Given the description of an element on the screen output the (x, y) to click on. 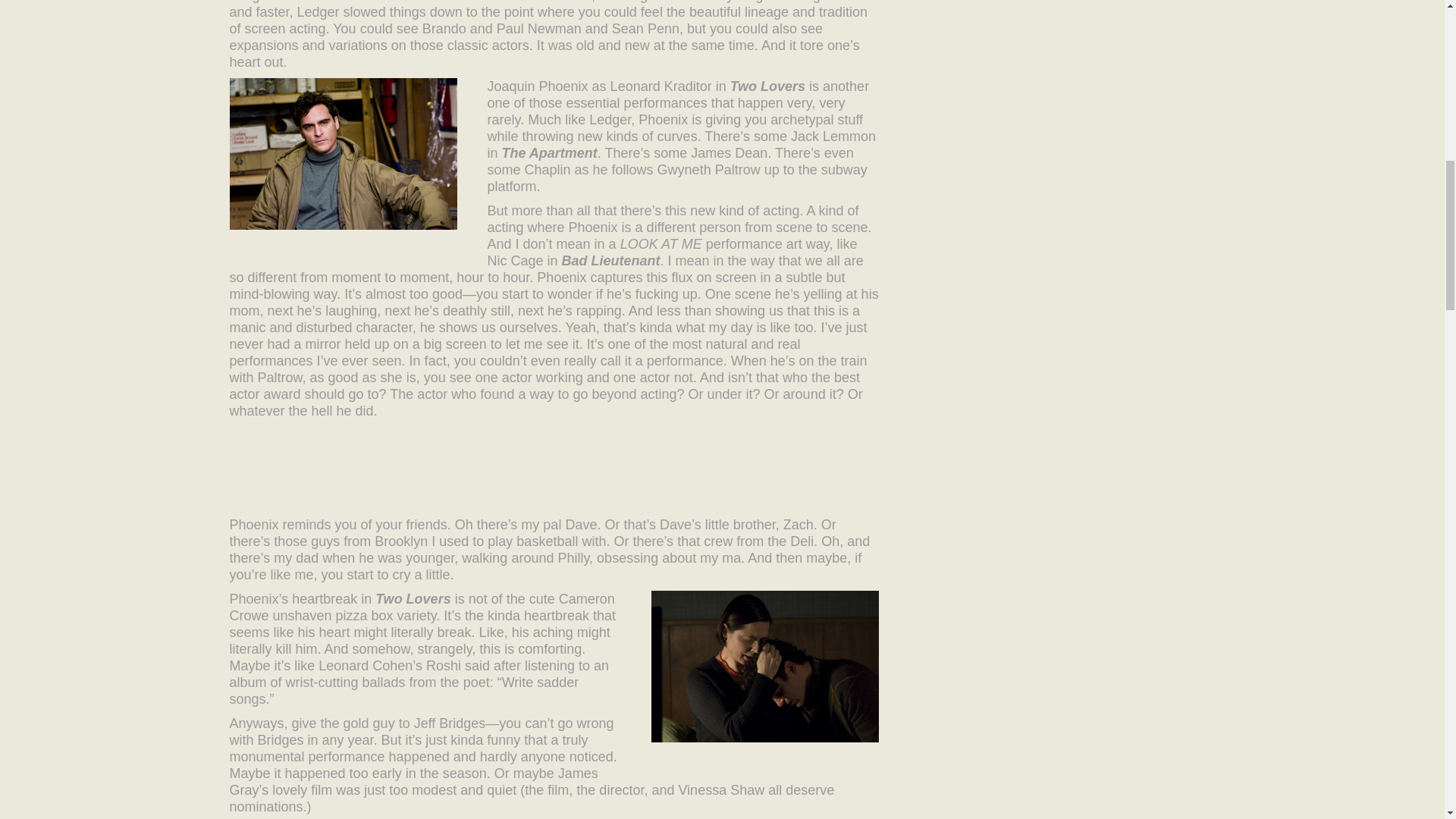
twoloversstill1 (342, 153)
twoloversstill4 (764, 666)
